Given the description of an element on the screen output the (x, y) to click on. 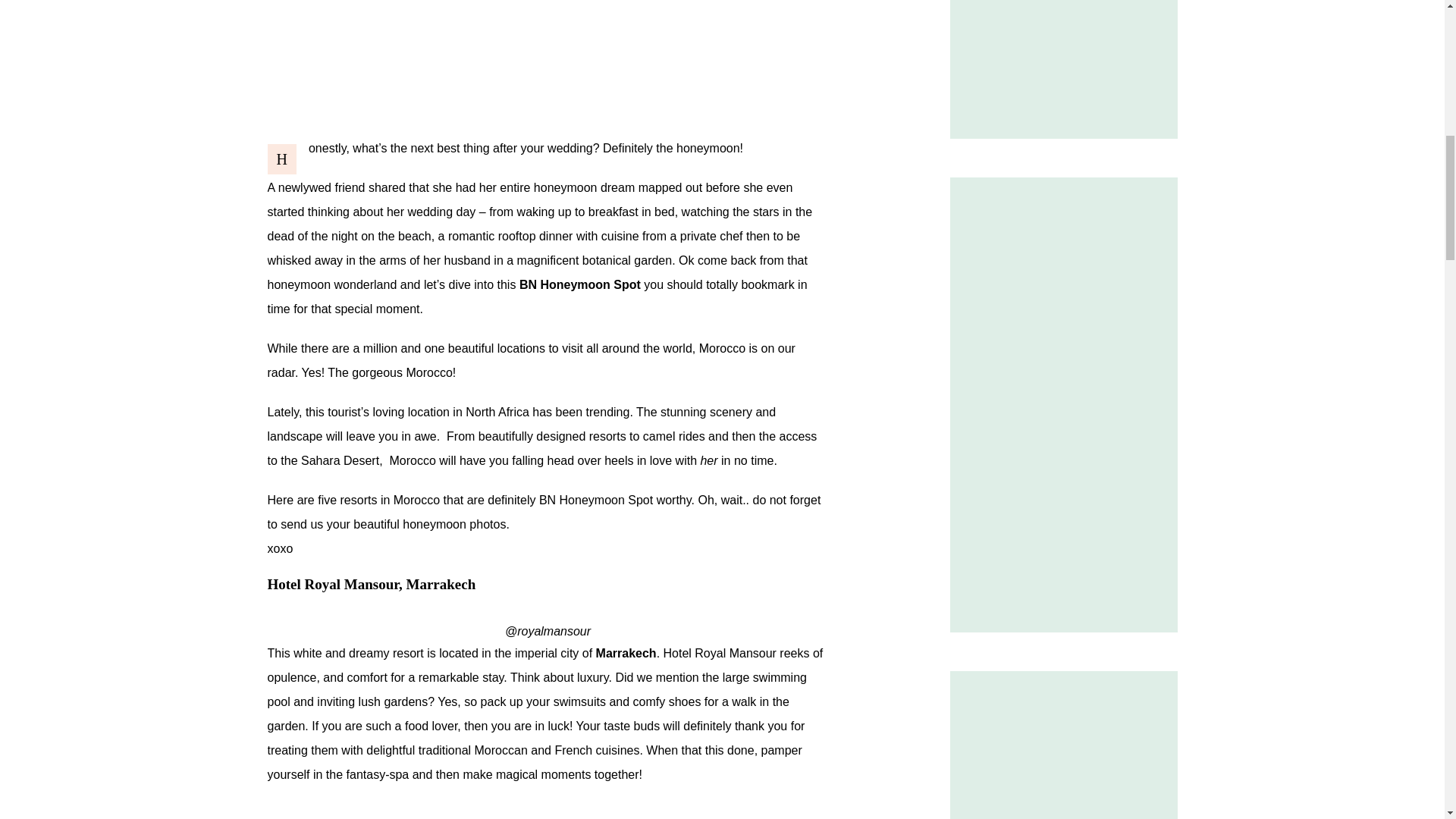
BN Honeymoon Spot (579, 284)
